Given the description of an element on the screen output the (x, y) to click on. 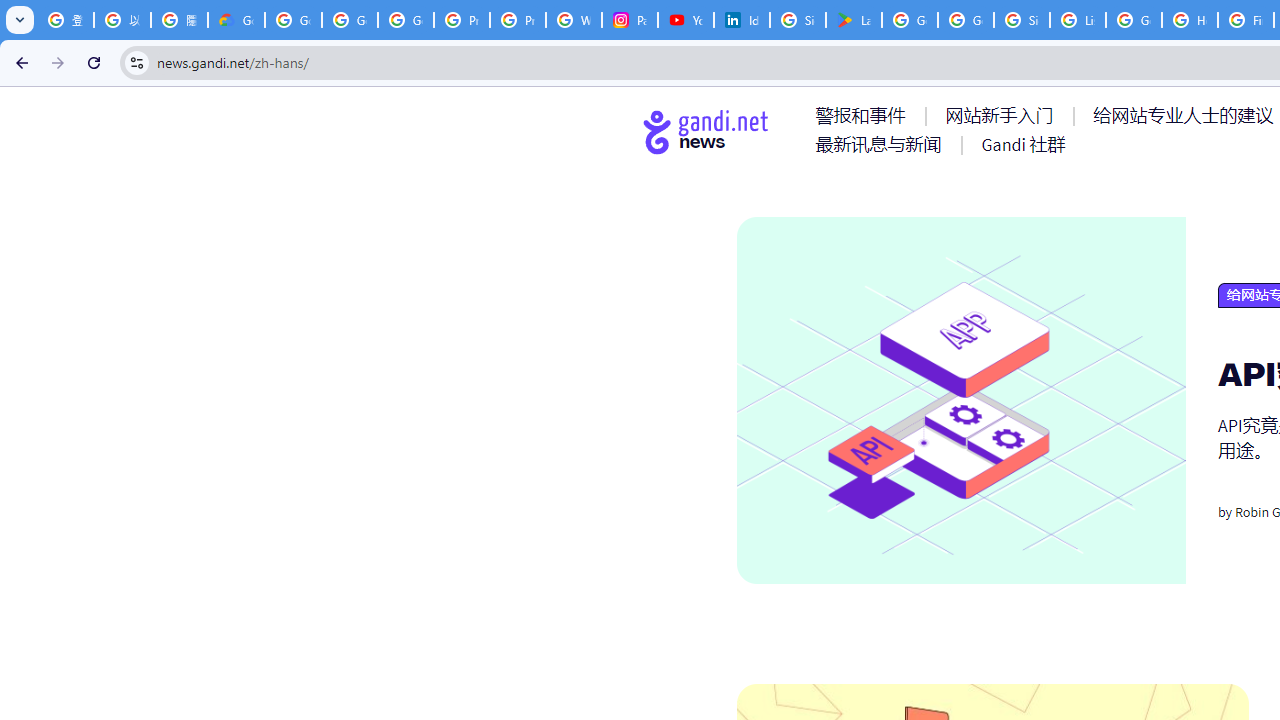
Go to home (706, 131)
Privacy Help Center - Policies Help (461, 20)
Last Shelter: Survival - Apps on Google Play (853, 20)
AutomationID: menu-item-77767 (1022, 143)
YouTube Culture & Trends - On The Rise: Handcam Videos (685, 20)
AutomationID: menu-item-77766 (882, 143)
